Given the description of an element on the screen output the (x, y) to click on. 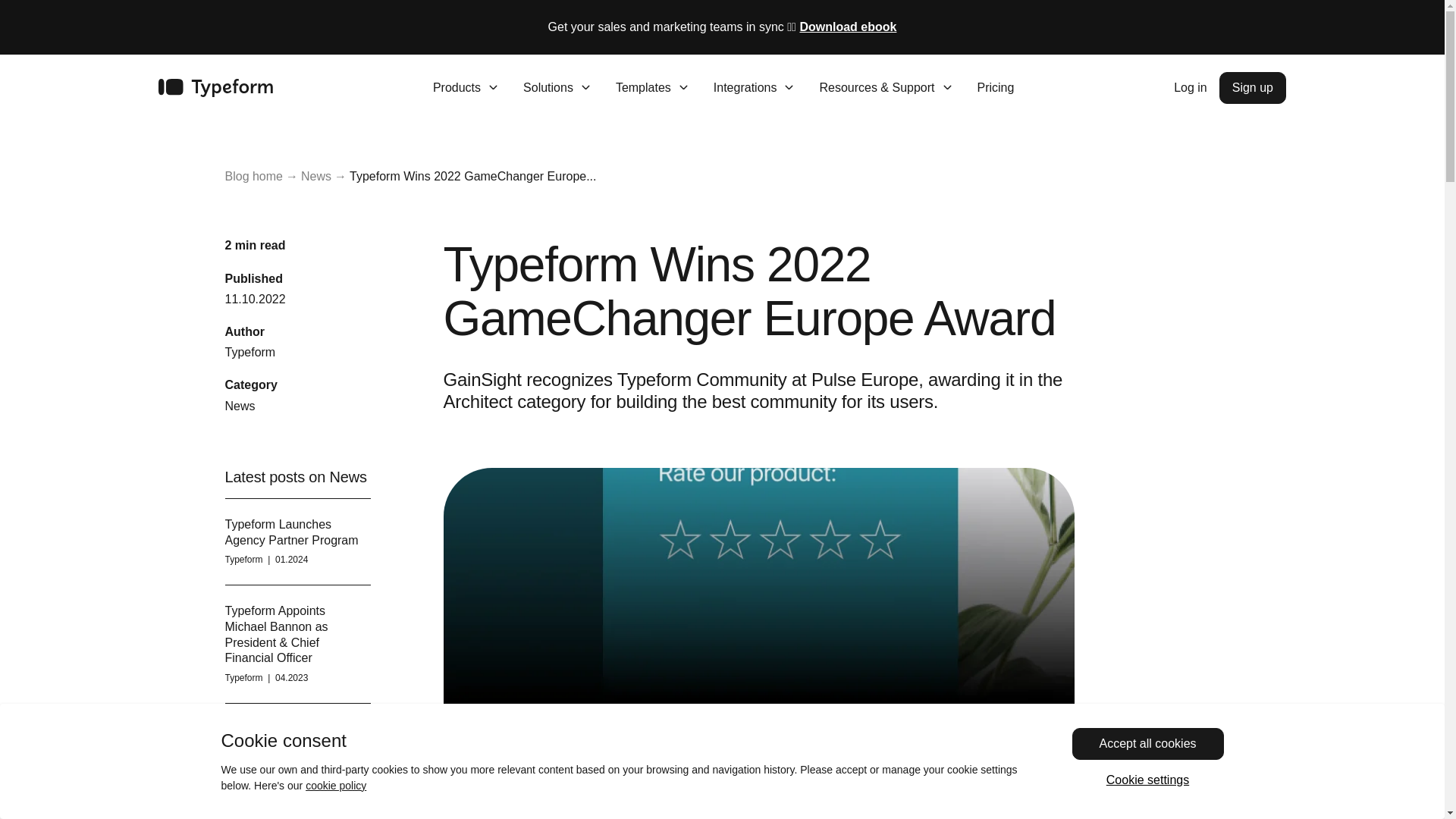
Accept all cookies (1147, 744)
Solutions (556, 87)
Download ebook (847, 26)
cookie policy (335, 785)
Templates (652, 87)
November 10, 2022 (254, 298)
Cookie settings (1147, 779)
Go to typeform.com (215, 87)
Products (465, 87)
